Given the description of an element on the screen output the (x, y) to click on. 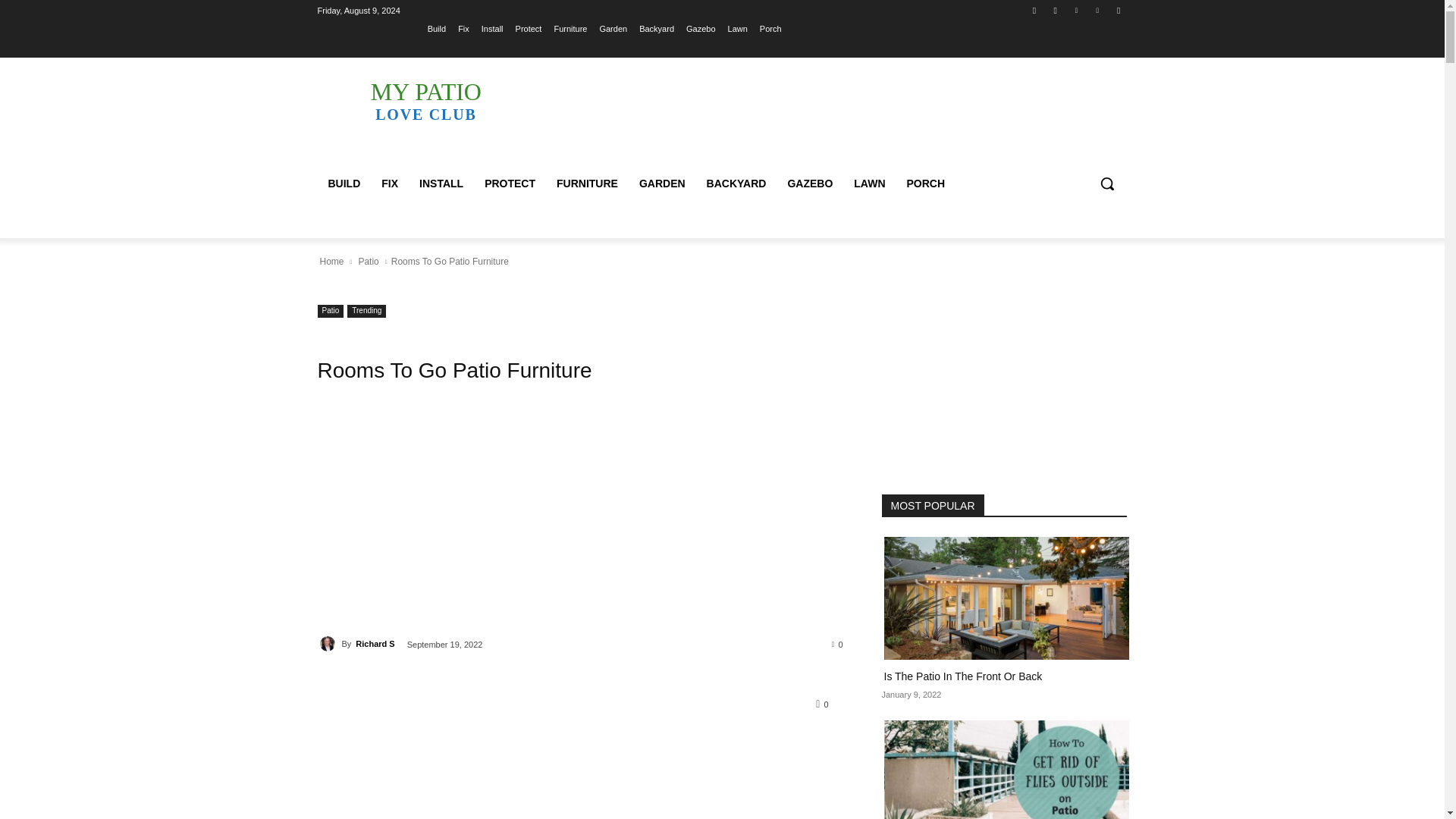
Furniture (569, 28)
Porch (770, 28)
Instagram (1055, 9)
Protect (528, 28)
Vimeo (1097, 9)
Twitter (1075, 9)
BUILD (344, 183)
Facebook (1034, 9)
Gazebo (700, 28)
View all posts in Patio (367, 261)
